Given the description of an element on the screen output the (x, y) to click on. 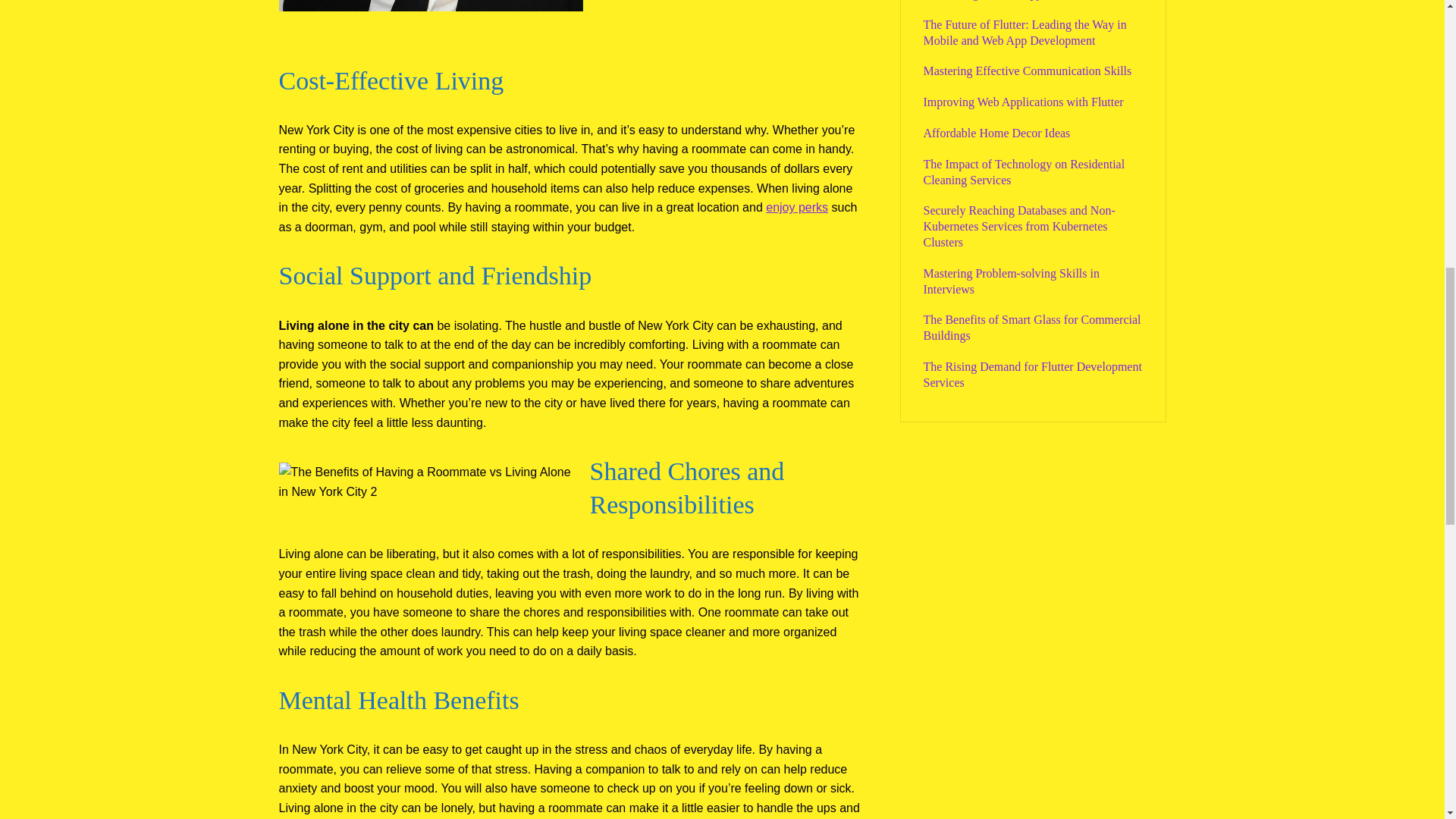
Improving Web Applications with Flutter (1023, 101)
enjoy perks (796, 206)
Mastering Effective Communication Skills (1027, 70)
Mastering Problem-solving Skills in Interviews (1011, 280)
Affordable Home Decor Ideas (996, 132)
The Impact of Technology on Residential Cleaning Services (1024, 172)
